Given the description of an element on the screen output the (x, y) to click on. 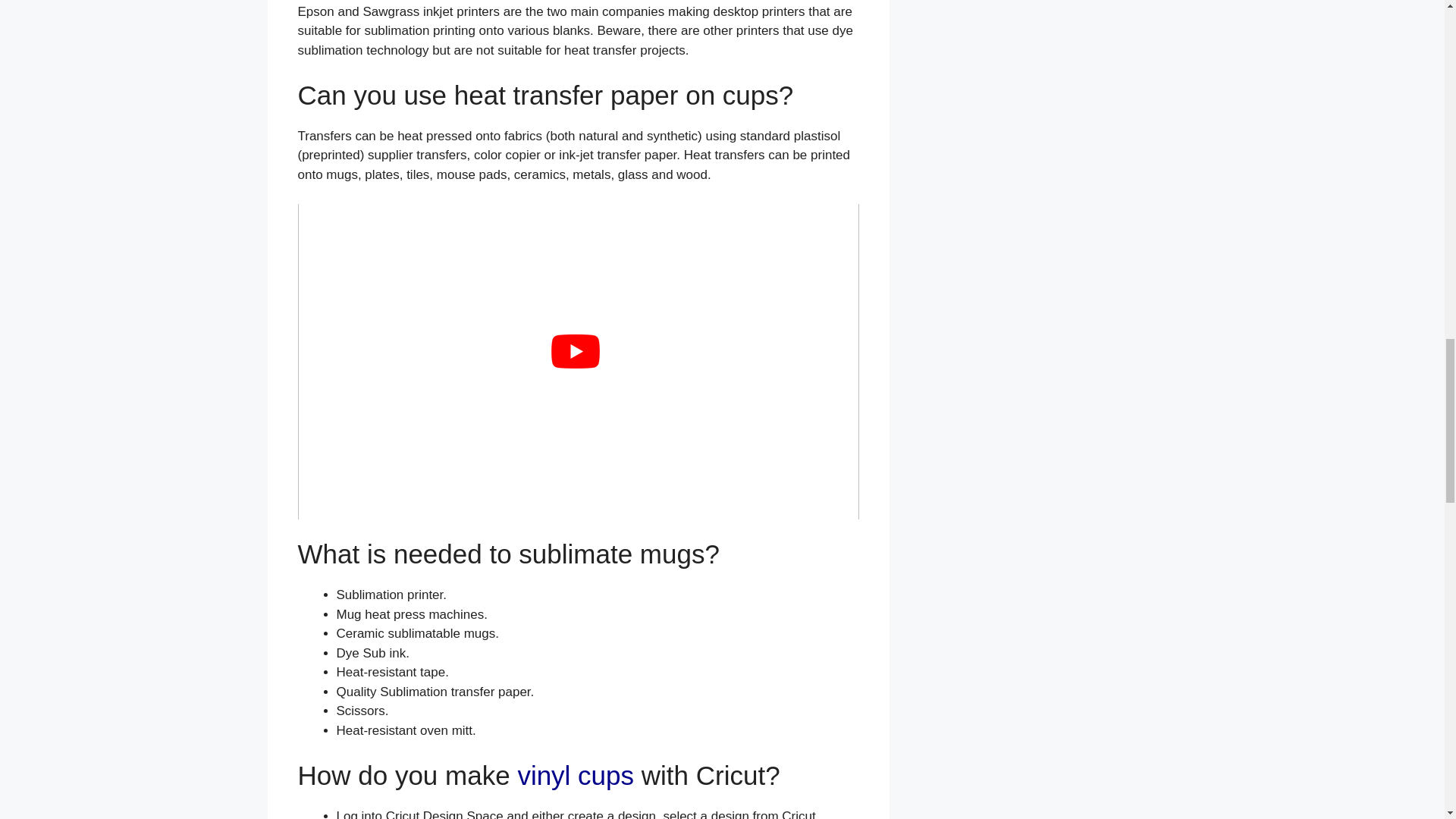
vinyl cups (574, 775)
